Given the description of an element on the screen output the (x, y) to click on. 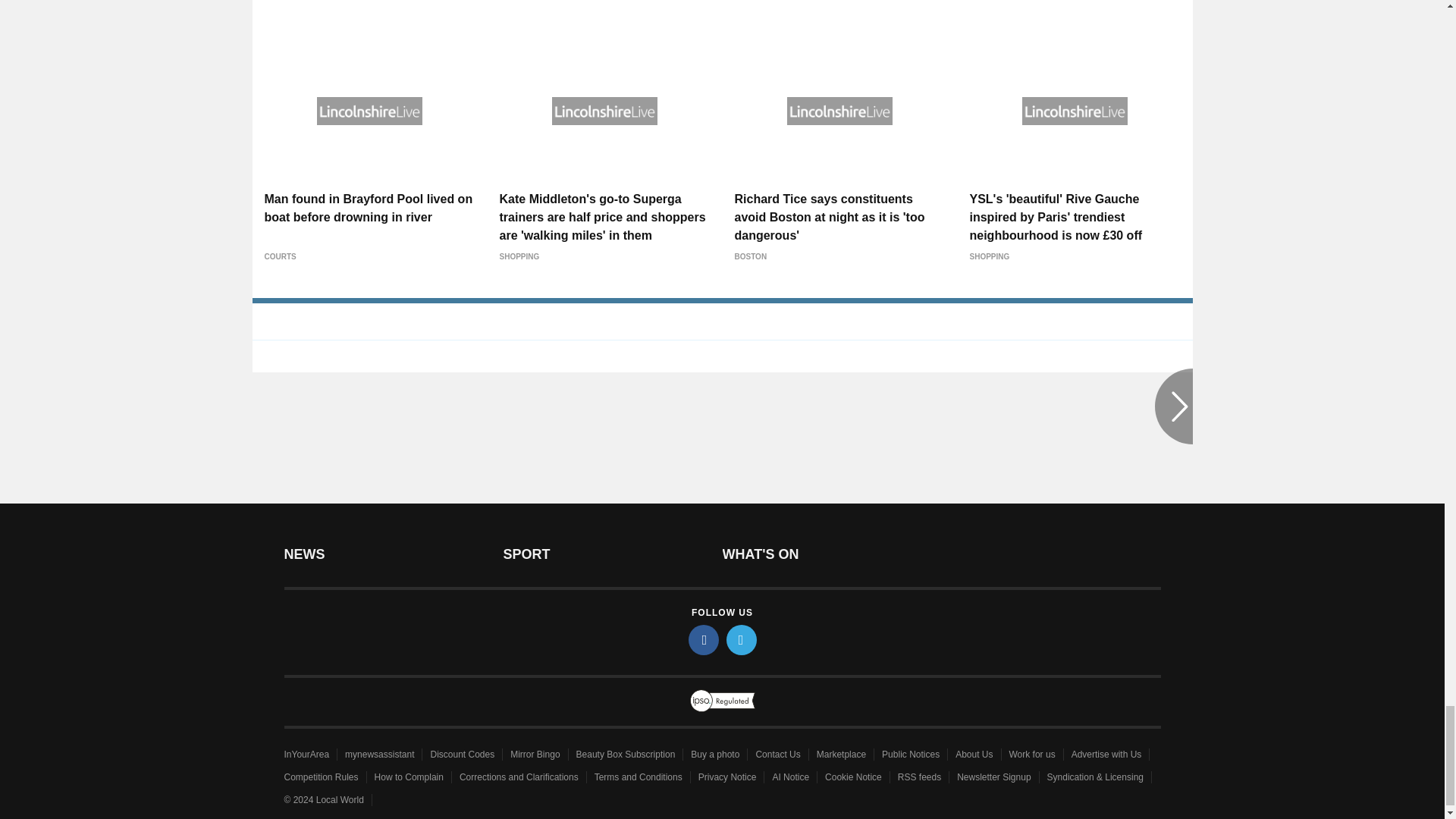
facebook (703, 639)
twitter (741, 639)
